Given the description of an element on the screen output the (x, y) to click on. 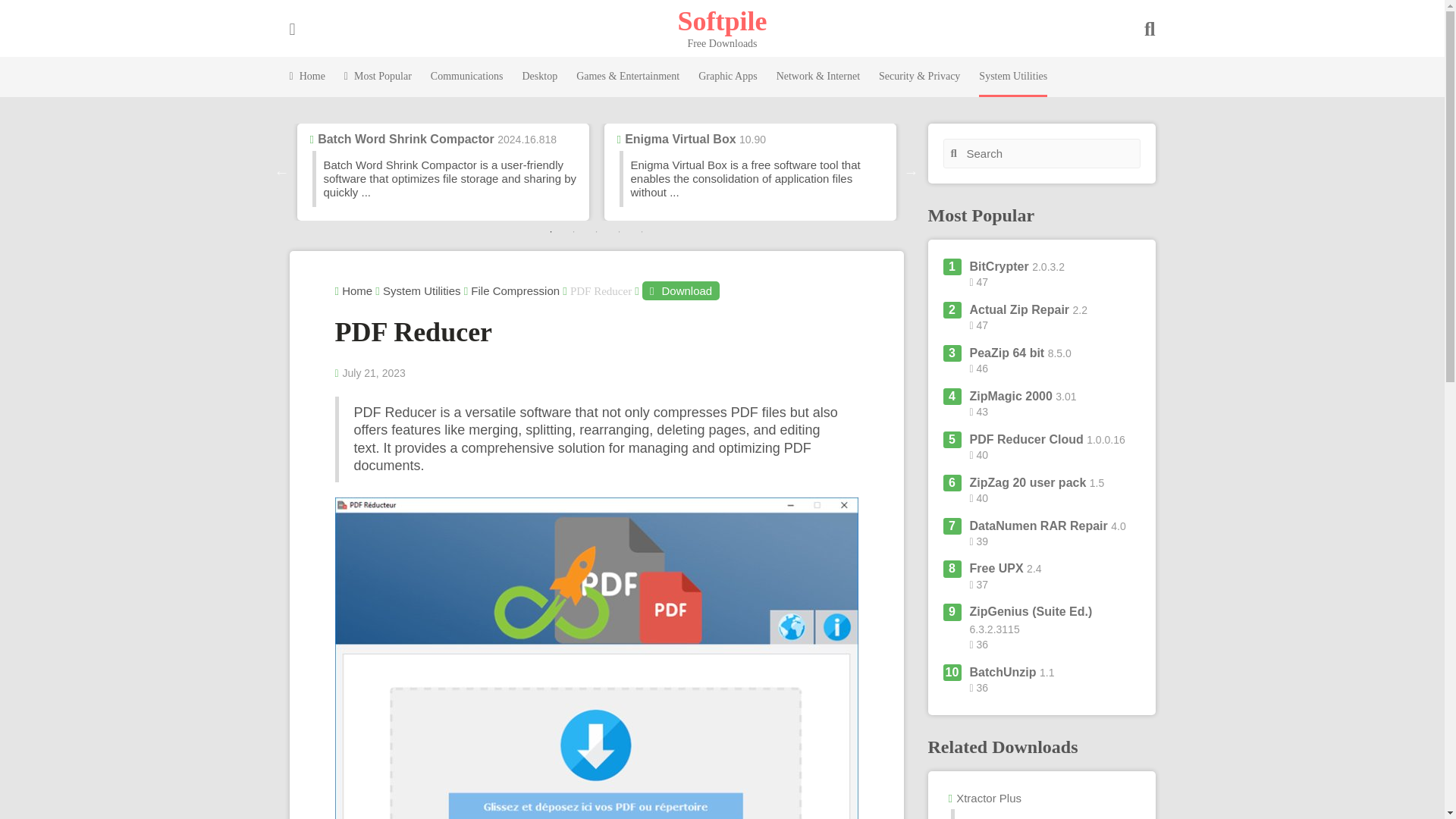
PREVIOUS (282, 171)
Batch Word Shrink Compactor (406, 138)
Download PDF Reducer 4.1 (680, 290)
Graphic Apps (727, 76)
Communications (466, 76)
Free Downloads (722, 20)
Softpile (722, 20)
Enigma Virtual Box (679, 138)
System Utilities (1012, 76)
